Given the description of an element on the screen output the (x, y) to click on. 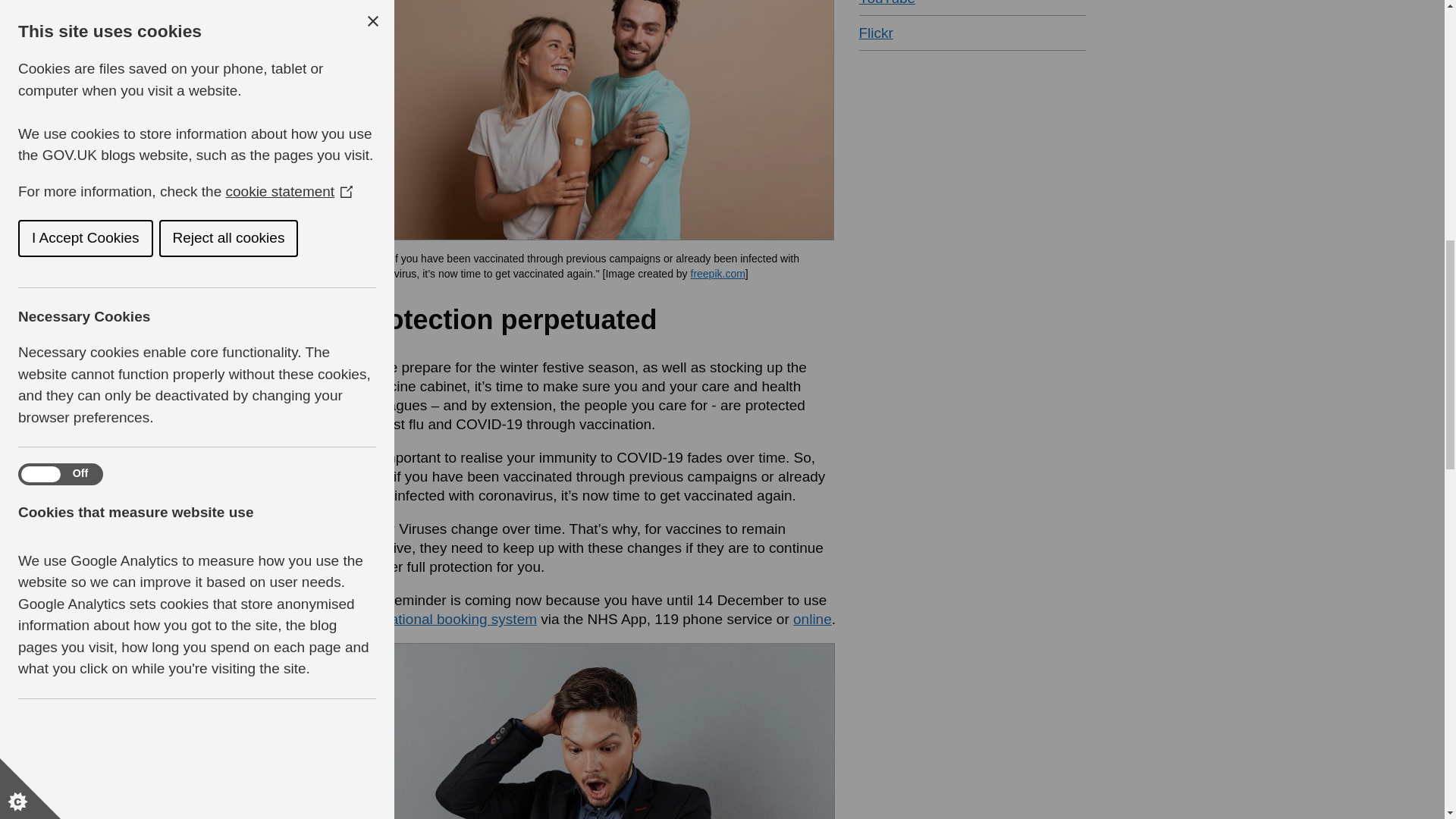
national booking system (459, 618)
freepik.com (717, 273)
online (812, 618)
